Given the description of an element on the screen output the (x, y) to click on. 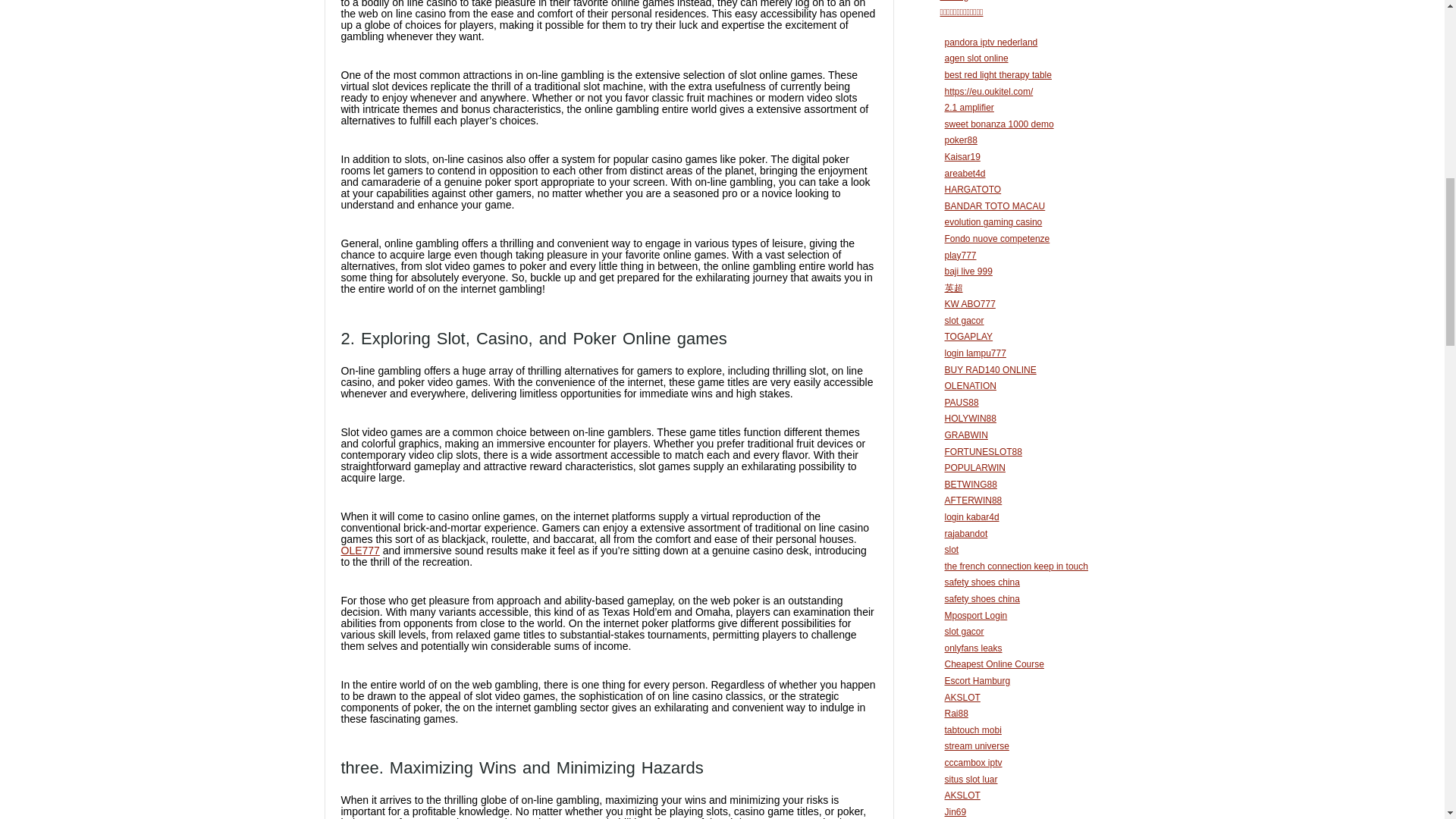
OLE777 (360, 550)
best red light therapy table (997, 74)
Testing (954, 0)
pandora iptv nederland (991, 41)
agen slot online (976, 58)
